Given the description of an element on the screen output the (x, y) to click on. 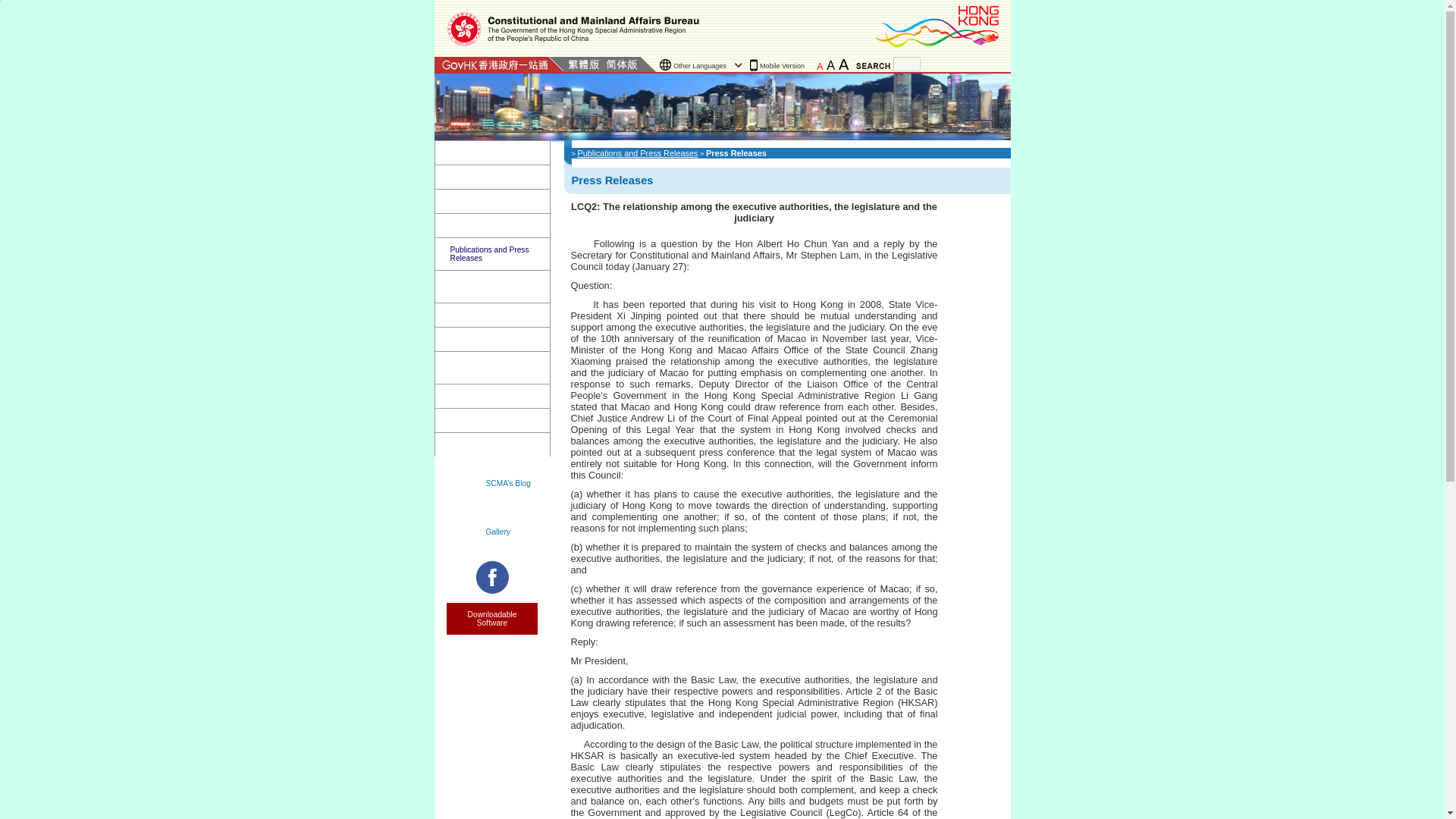
Brand Hong Kong - Asia's world city (938, 26)
Other Languages (702, 65)
Topical Issues (492, 225)
Simplified Chinese (621, 64)
Site Map (963, 64)
Search (928, 64)
Traditional Chinese (583, 64)
Home (492, 152)
About Us (492, 177)
